Given the description of an element on the screen output the (x, y) to click on. 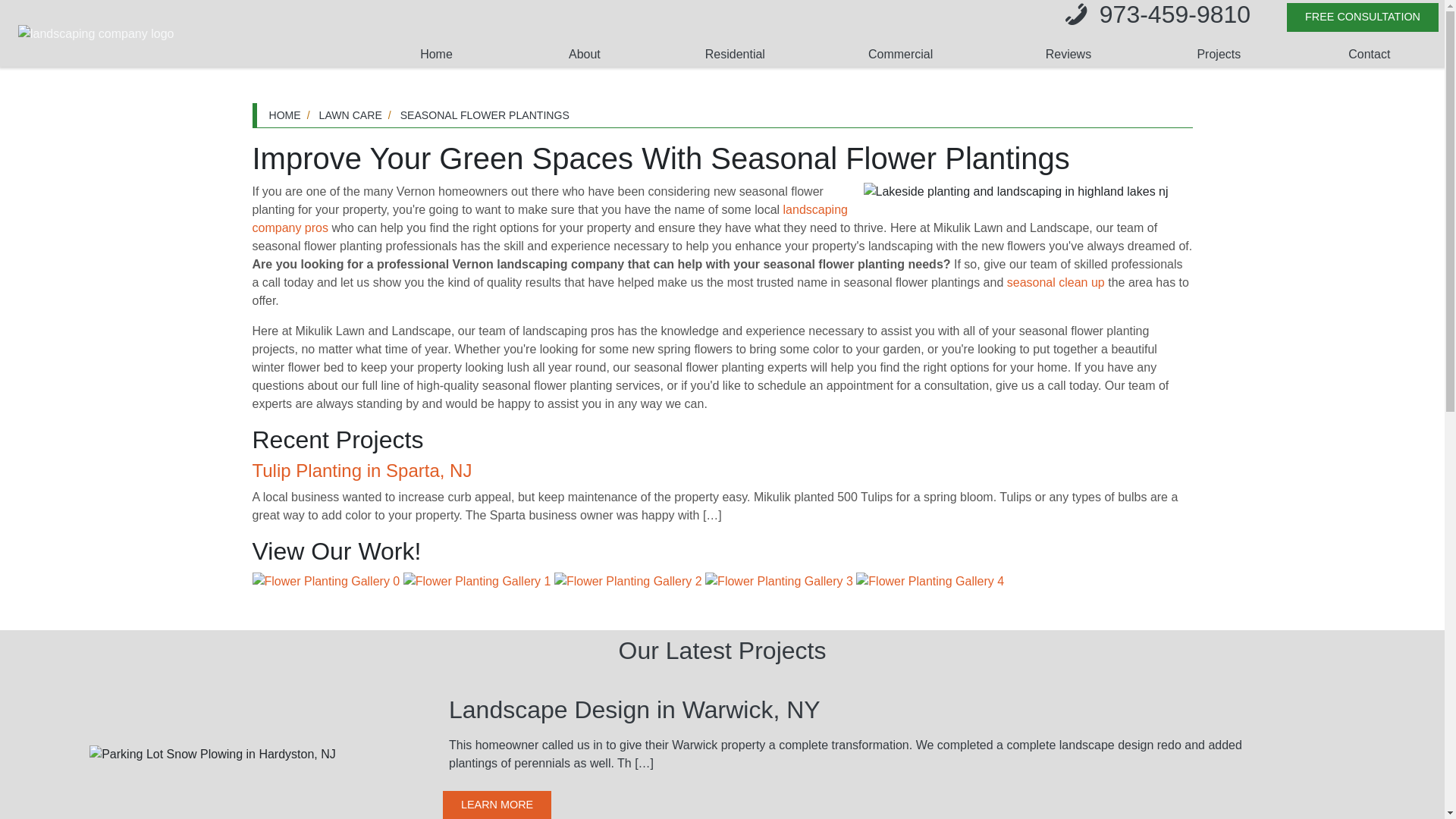
Seasonal Flower Plantings (484, 114)
Home (283, 114)
Lawn Care (349, 114)
